Given the description of an element on the screen output the (x, y) to click on. 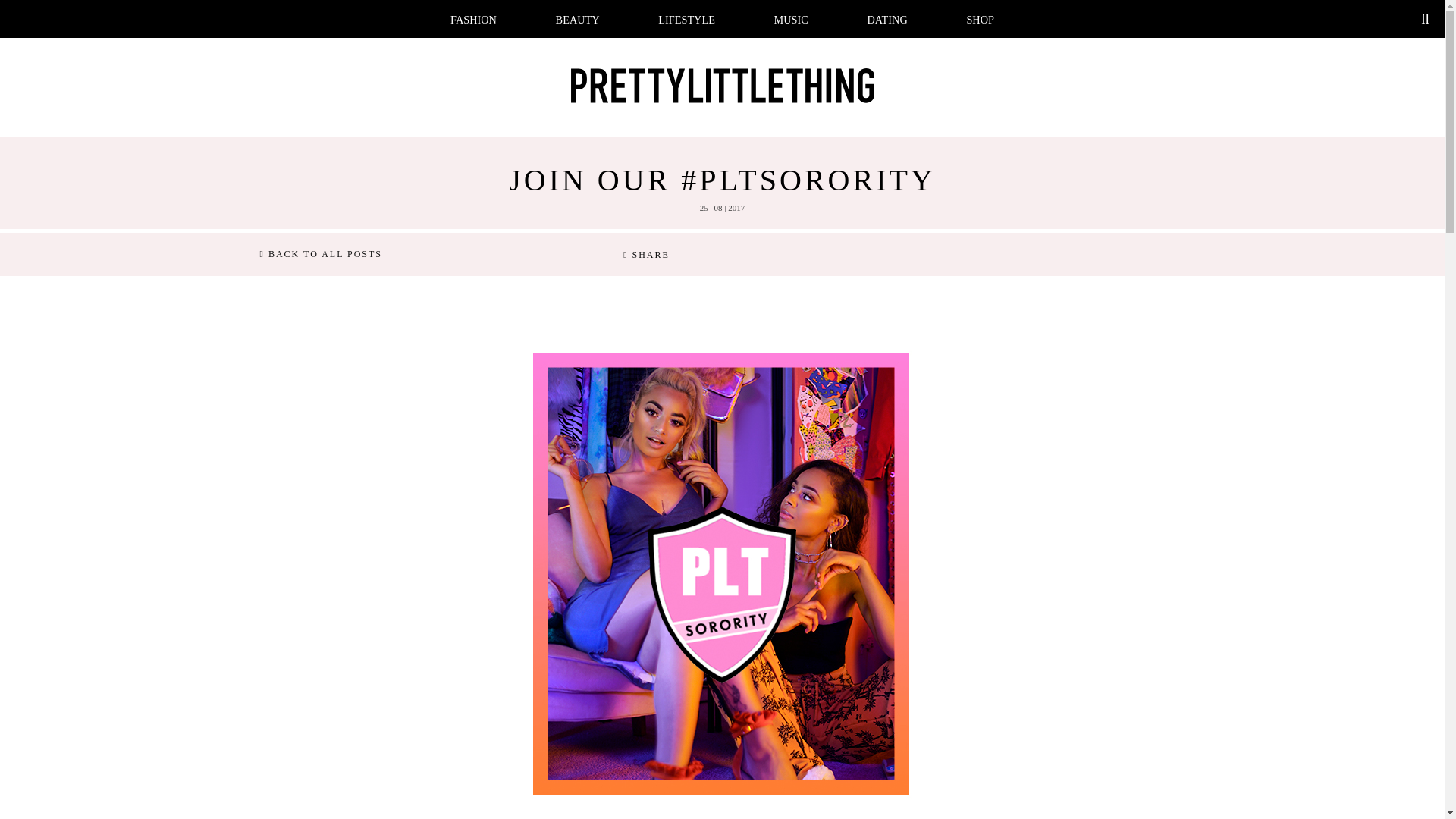
DATING (887, 19)
SHARE (646, 254)
BEAUTY (577, 19)
LIFESTYLE (686, 19)
MUSIC (791, 19)
FASHION (472, 19)
BACK TO ALL POSTS (320, 254)
SHOP (980, 19)
